Given the description of an element on the screen output the (x, y) to click on. 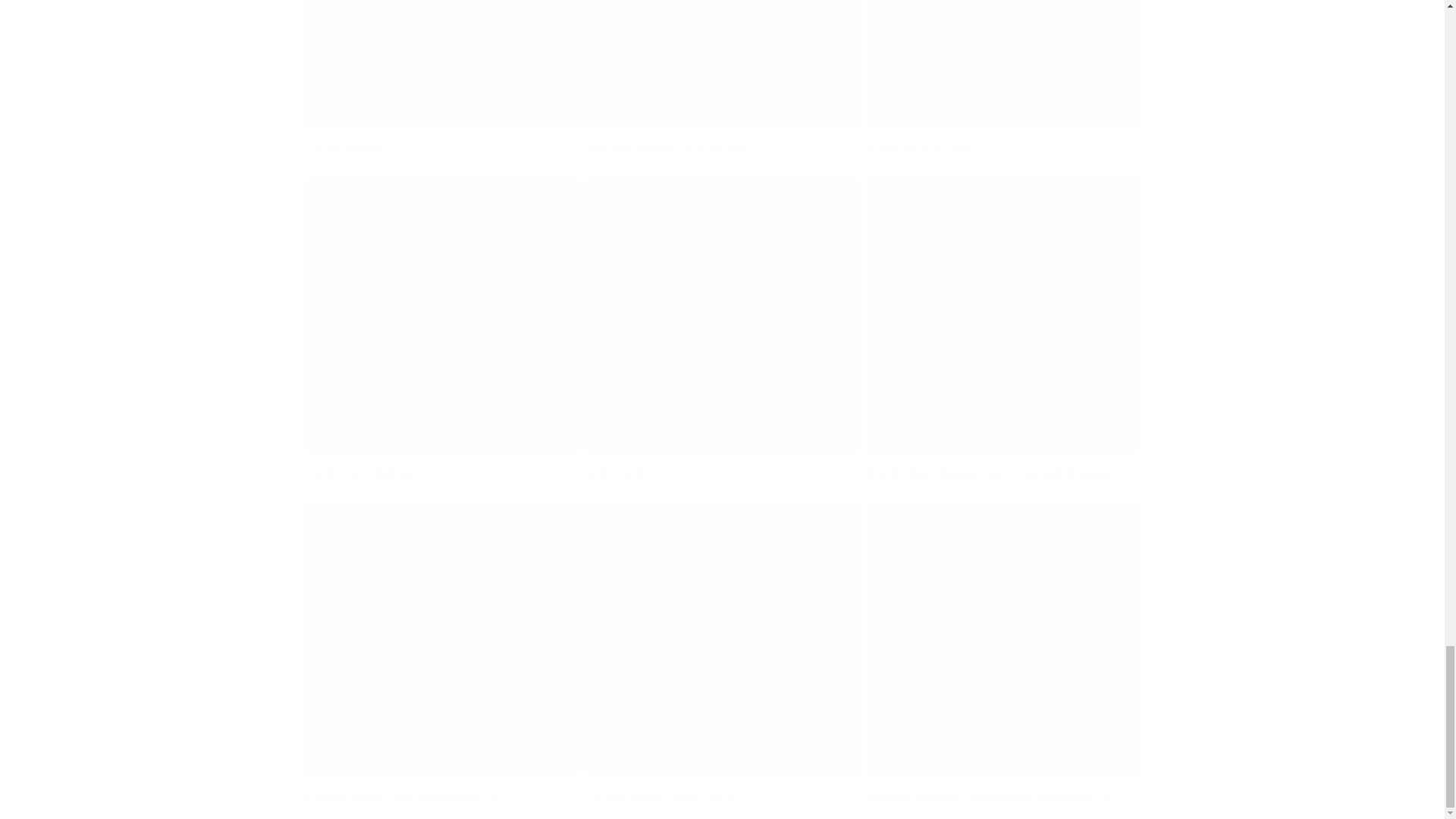
Small Slabs (441, 85)
Handle Blocks Stabilized (722, 85)
River Board Sets (1001, 85)
